Given the description of an element on the screen output the (x, y) to click on. 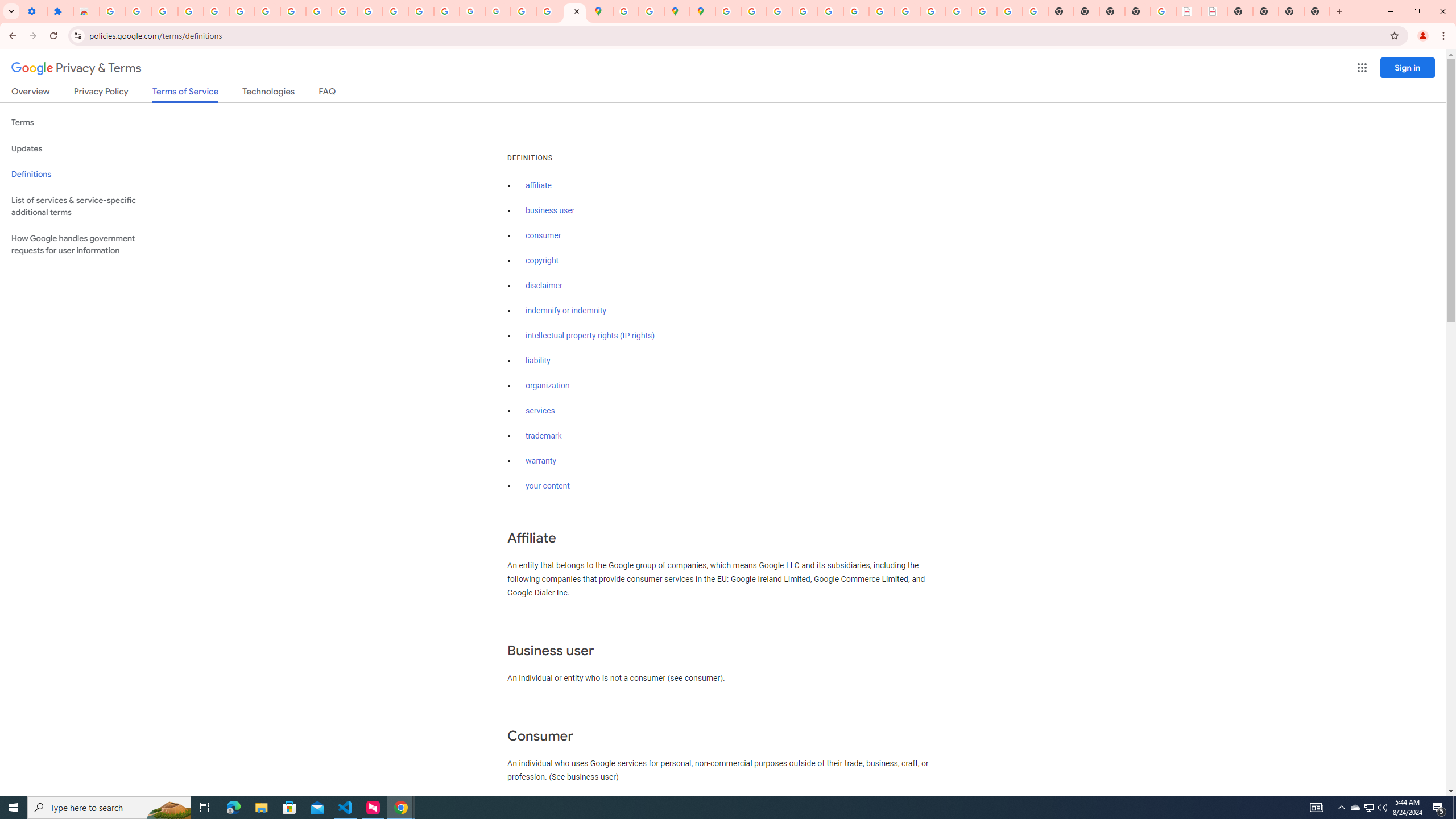
disclaimer (543, 285)
Settings - On startup (34, 11)
Sign in - Google Accounts (242, 11)
business user (550, 210)
Google Images (1034, 11)
Privacy Help Center - Policies Help (804, 11)
